Given the description of an element on the screen output the (x, y) to click on. 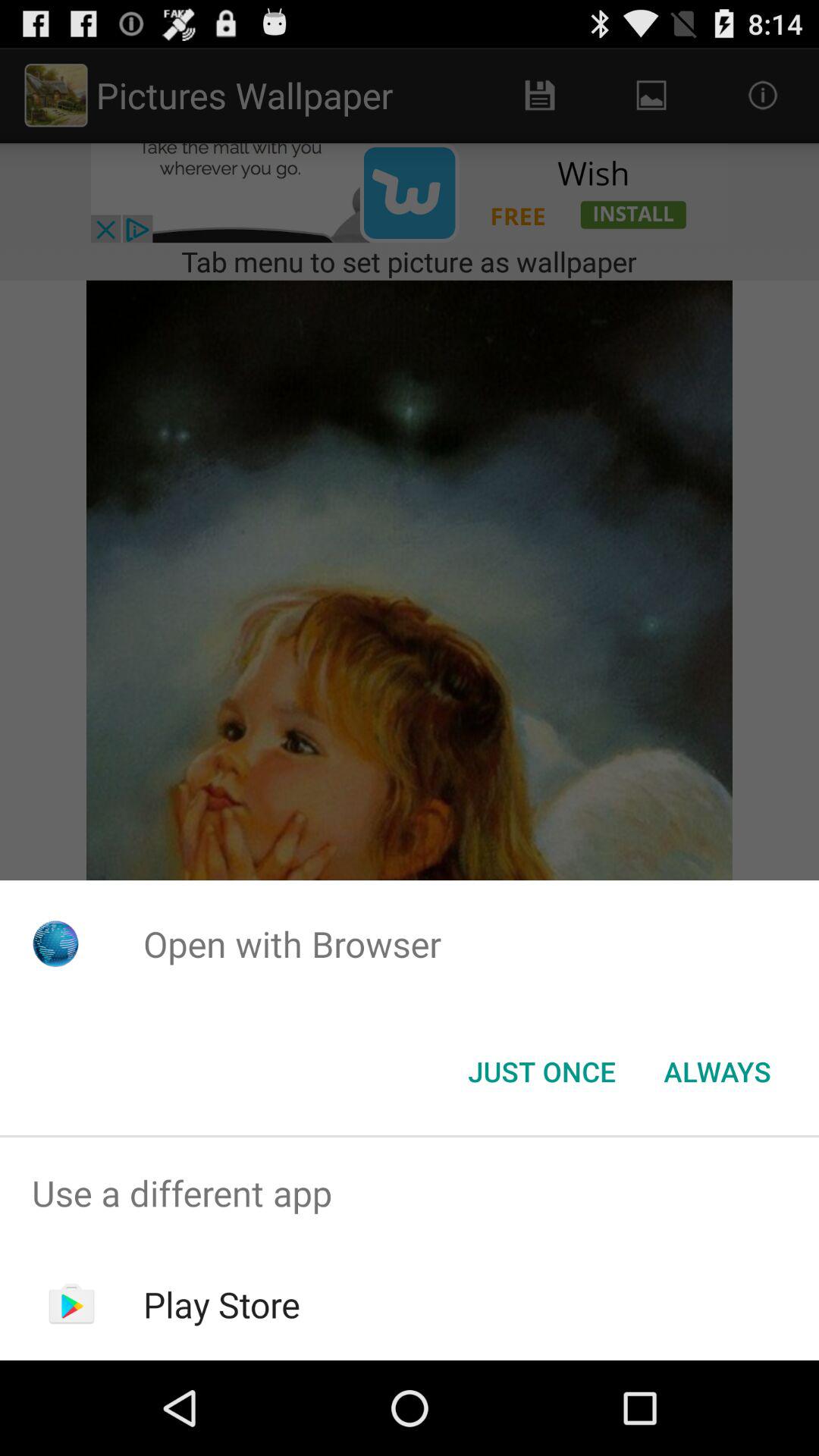
open item next to the always (541, 1071)
